Given the description of an element on the screen output the (x, y) to click on. 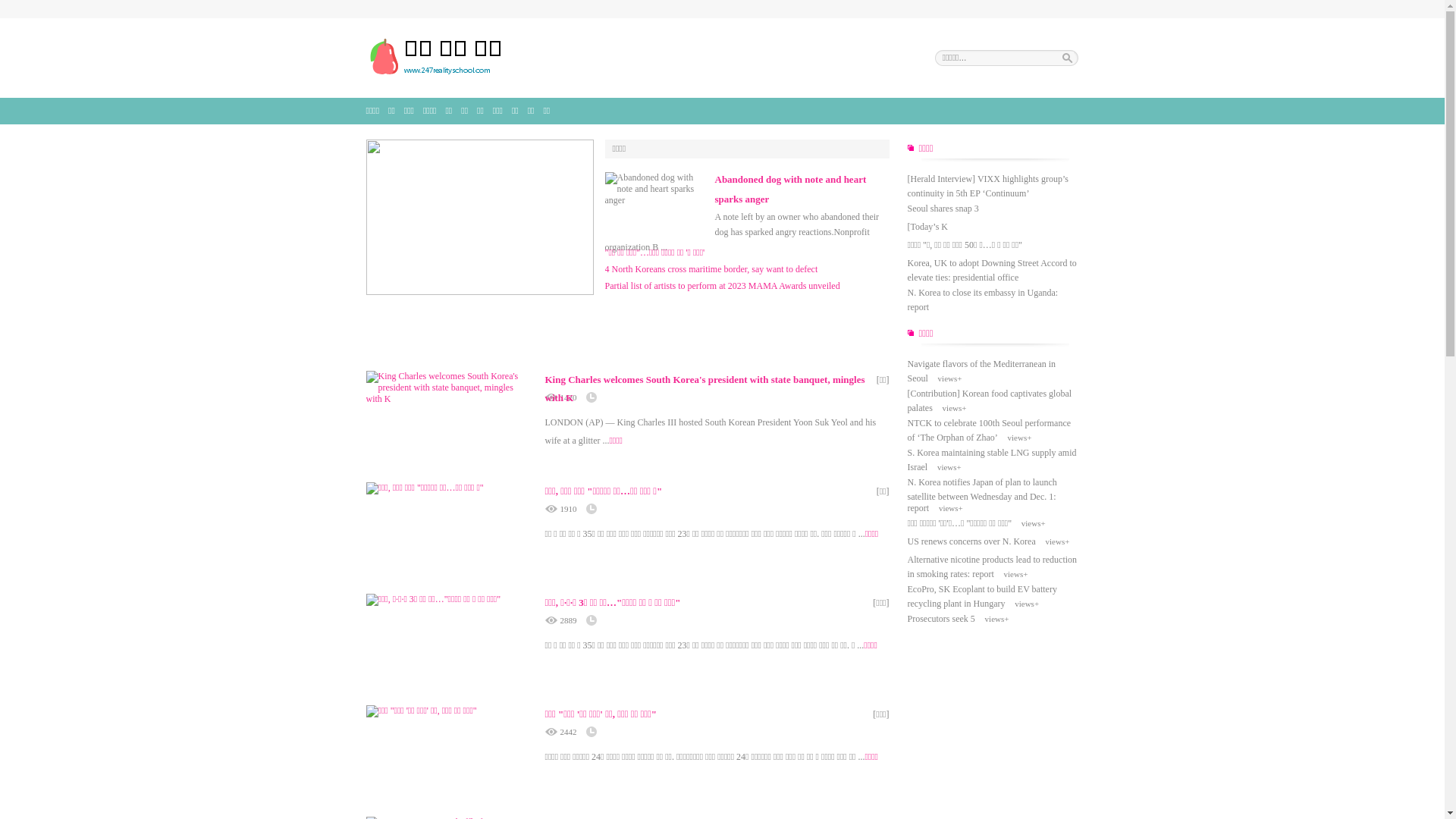
[Contribution] Korean food captivates global palates Element type: text (988, 400)
Abandoned dog with note and heart sparks anger Element type: text (790, 188)
N. Korea to close its embassy in Uganda: report Element type: text (981, 299)
Prosecutors seek 5 Element type: text (940, 618)
4 North Koreans cross maritime border, say want to defect Element type: text (711, 268)
Navigate flavors of the Mediterranean in Seoul Element type: text (980, 370)
Seoul shares snap 3 Element type: text (942, 208)
US renews concerns over N. Korea Element type: text (970, 541)
S. Korea maintaining stable LNG supply amid Israel Element type: text (991, 459)
